Given the description of an element on the screen output the (x, y) to click on. 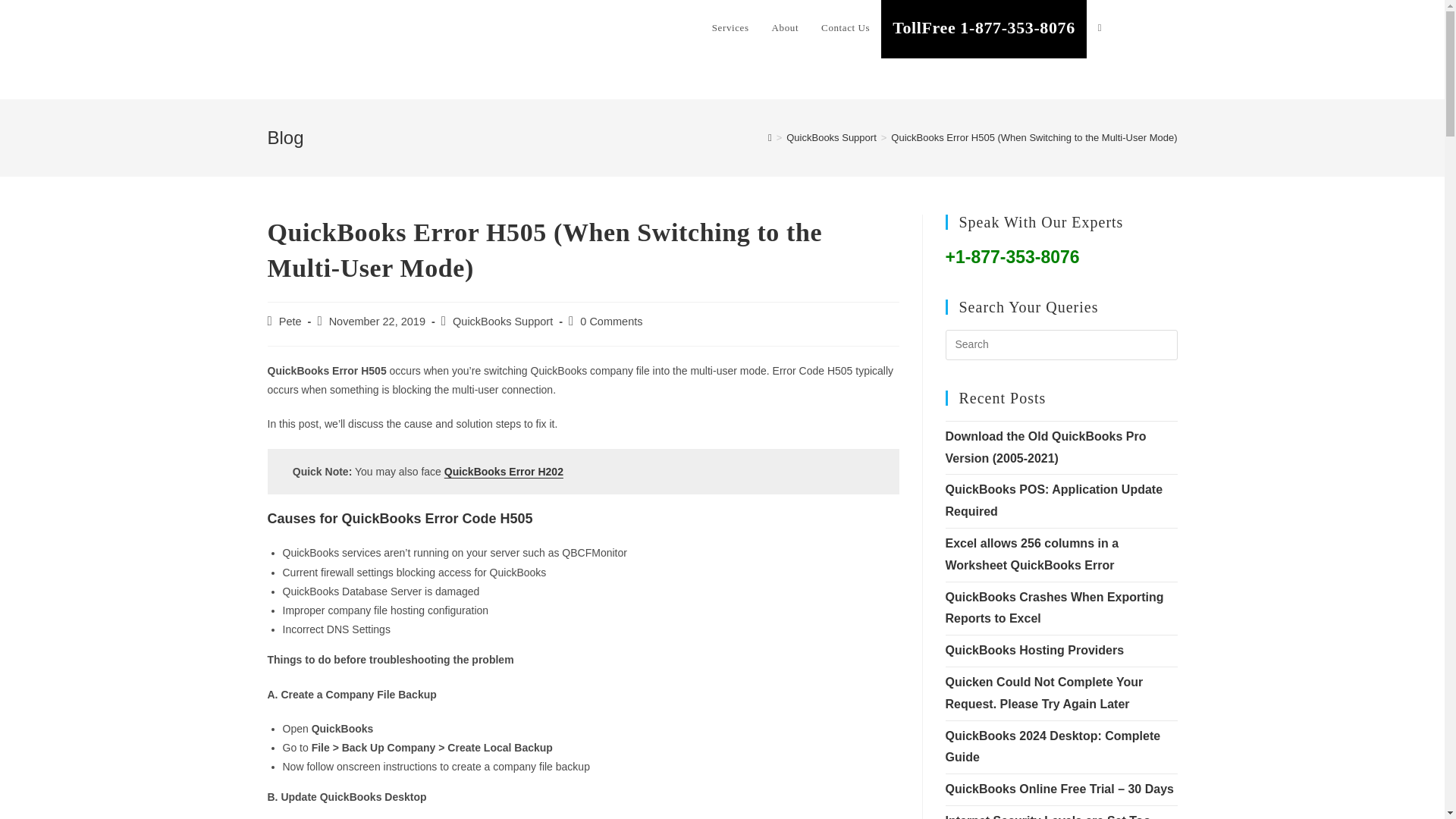
Pete (290, 321)
QuickBooks Support (502, 321)
Accounting Software's Consultant (390, 27)
Contact Us (844, 28)
About (785, 28)
Services (730, 28)
TollFree 1-877-353-8076 (983, 29)
0 Comments (610, 321)
QuickBooks Support (831, 137)
QuickBooks POS: Application Update Required (1052, 500)
